Given the description of an element on the screen output the (x, y) to click on. 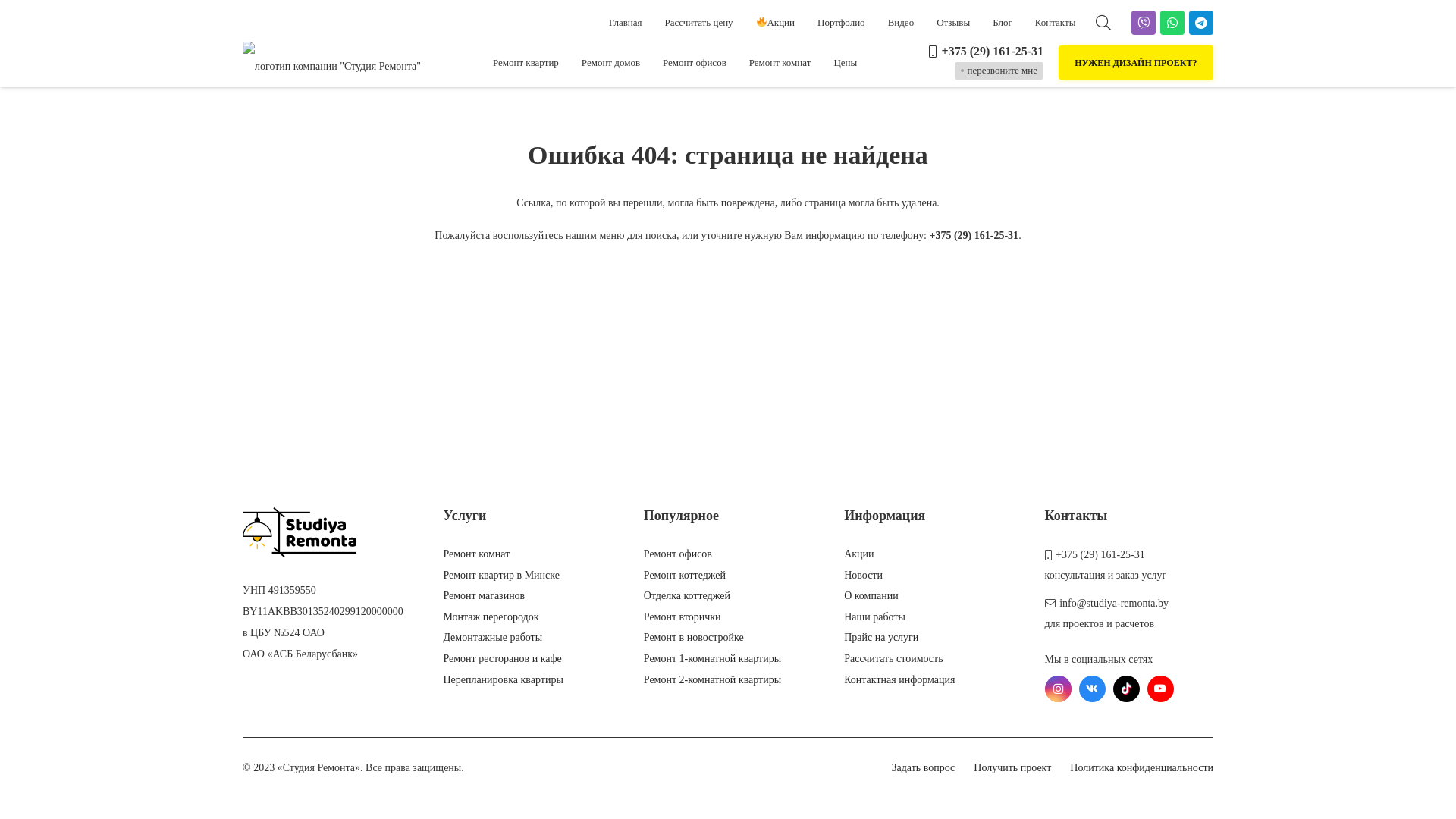
WhatsApp Element type: hover (1172, 22)
+375 (29) 161-25-31 Element type: text (985, 49)
Viber Element type: hover (1143, 22)
info@studiya-remonta.by Element type: text (1106, 602)
+375 (29) 161-25-31 Element type: text (973, 235)
Telegram Element type: hover (1201, 22)
Instagram Element type: hover (1057, 688)
+375 (29) 161-25-31 Element type: text (1094, 554)
YouTube Element type: hover (1160, 688)
Vkontakte Element type: hover (1092, 688)
TikTok Element type: hover (1126, 688)
